Given the description of an element on the screen output the (x, y) to click on. 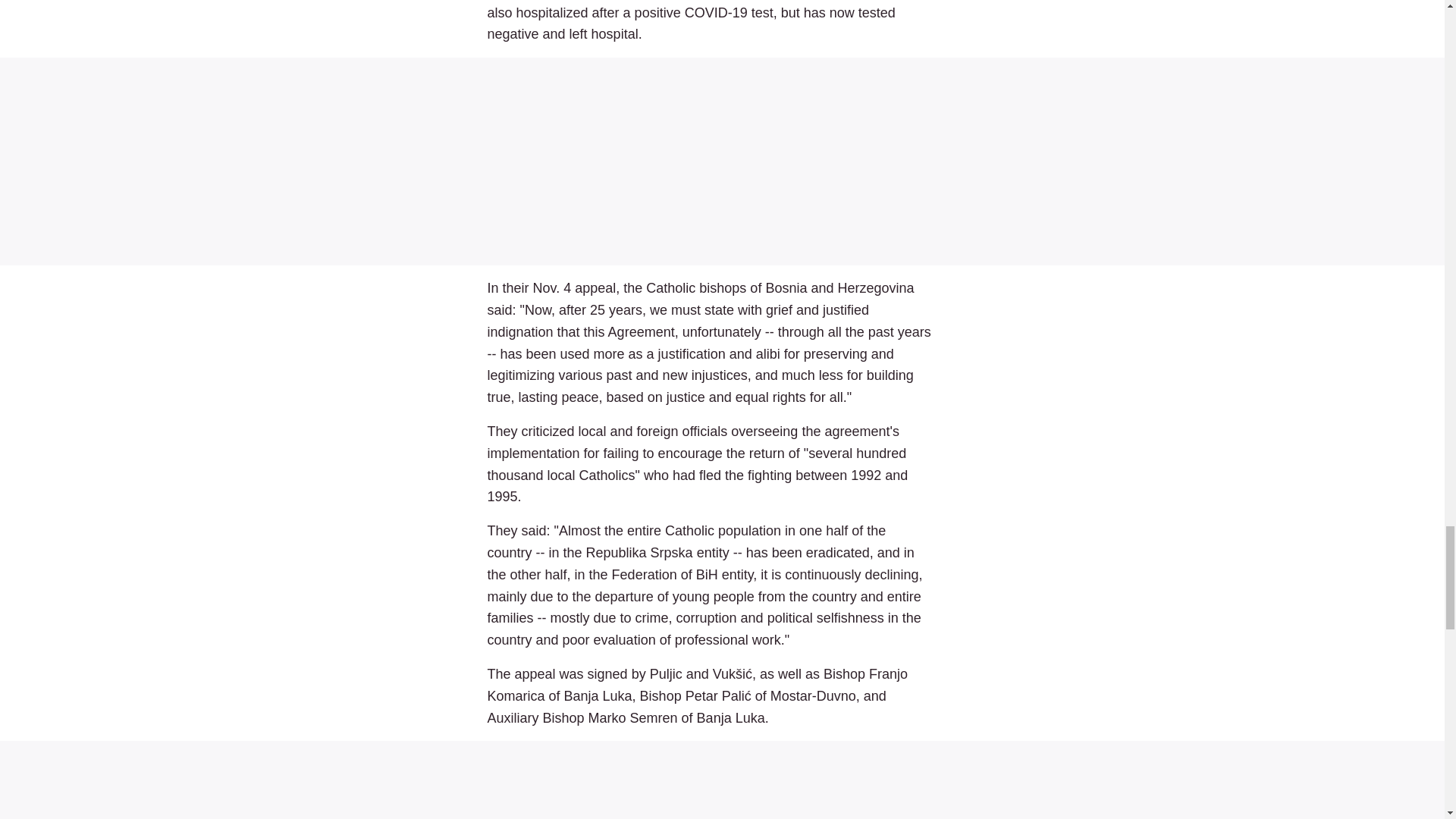
3rd party ad content (721, 784)
3rd party ad content (721, 161)
